Given the description of an element on the screen output the (x, y) to click on. 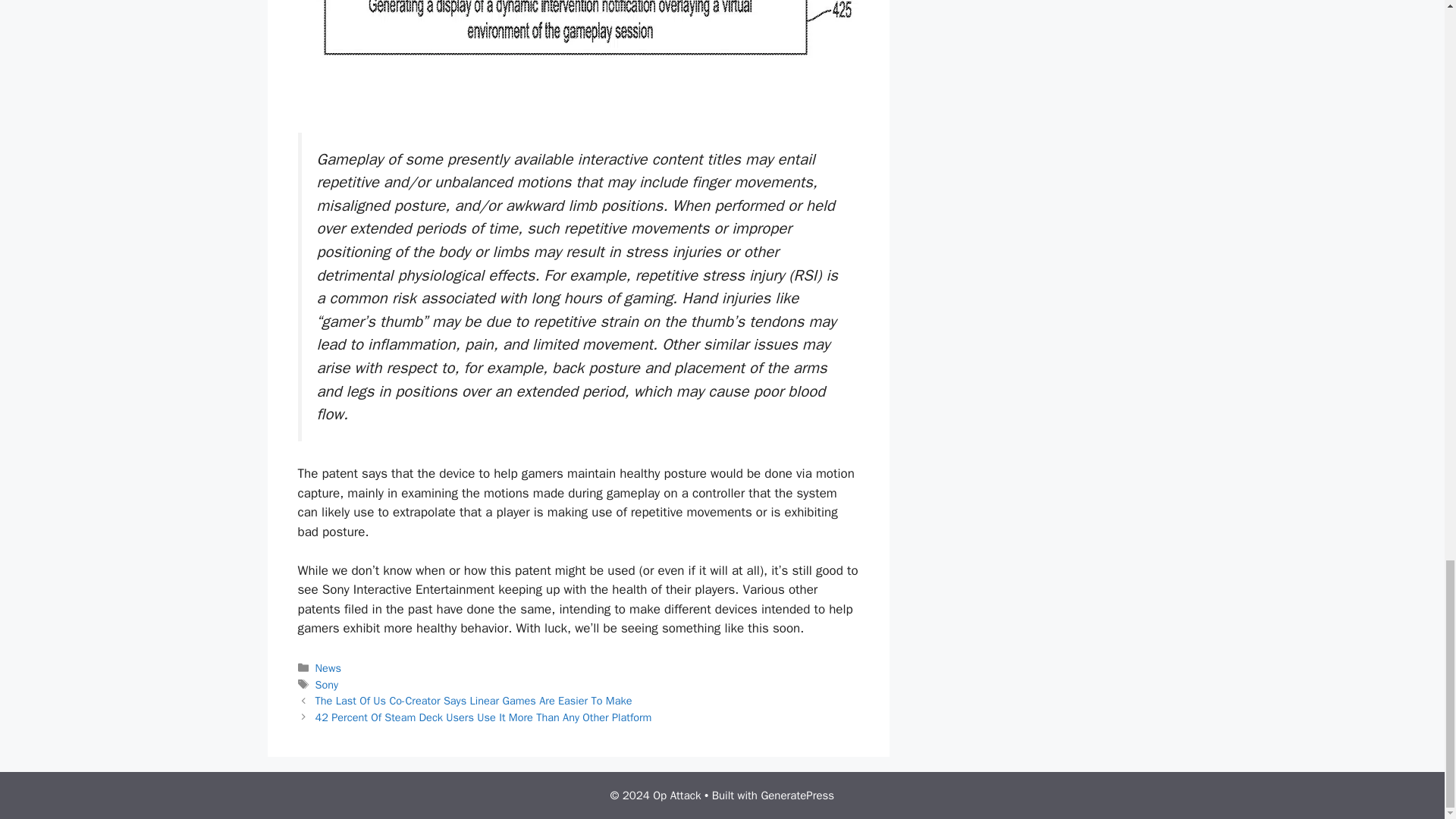
GeneratePress (797, 795)
Sony (327, 684)
News (327, 667)
